Given the description of an element on the screen output the (x, y) to click on. 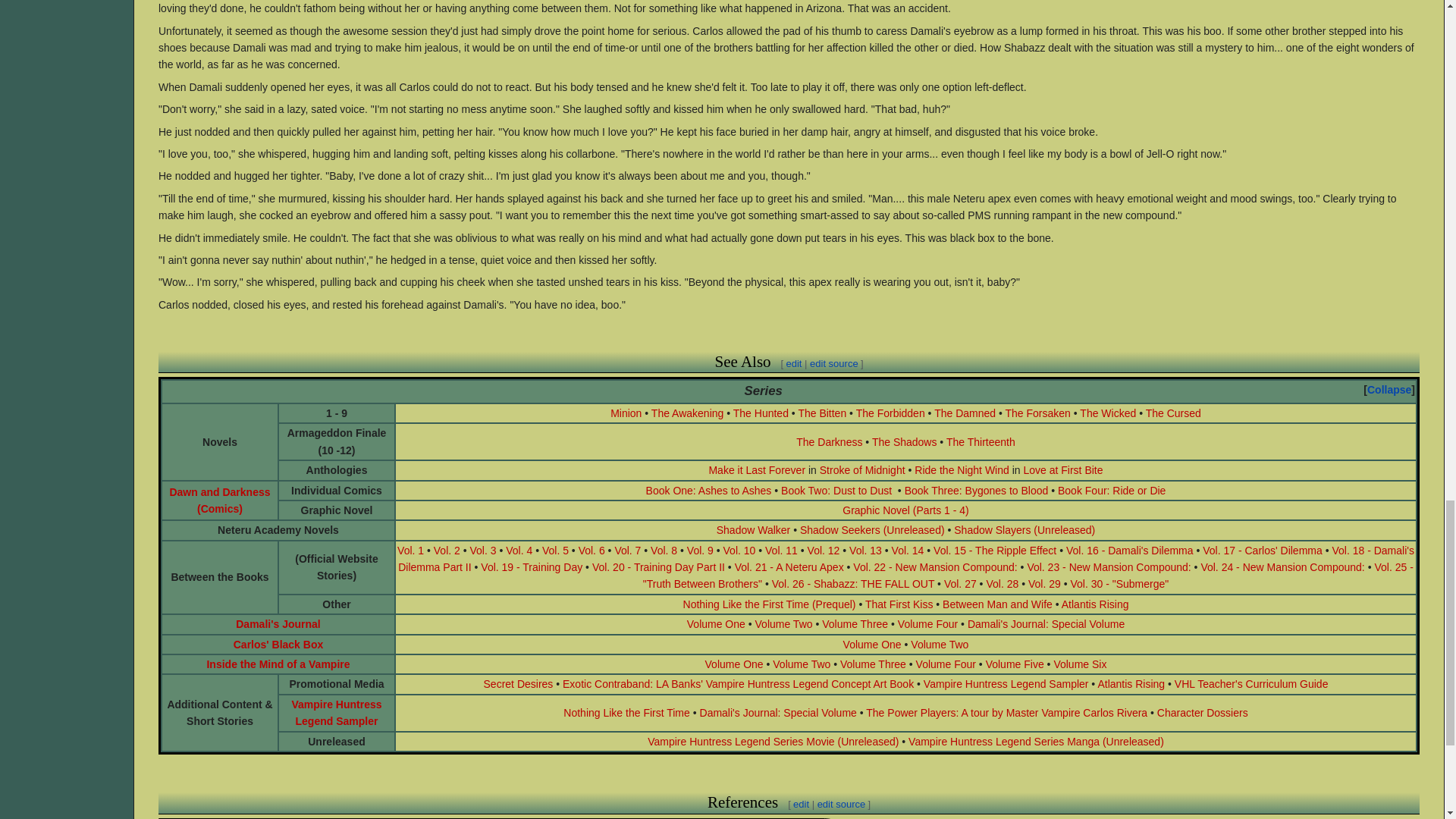
Book Three: Bygones to Blood (976, 490)
The Shadows (904, 441)
The Hunted (761, 413)
Minion (626, 413)
The Cursed (1173, 413)
Book Two: Dust to Dust (835, 490)
The Wicked (1107, 413)
Vol. 2 (446, 550)
The Awakening (686, 413)
The Damned (964, 413)
Love at First Bite (1062, 469)
The Bitten (821, 413)
The Forsaken (1038, 413)
The Forbidden (890, 413)
Book One: Ashes to Ashes (708, 490)
